Given the description of an element on the screen output the (x, y) to click on. 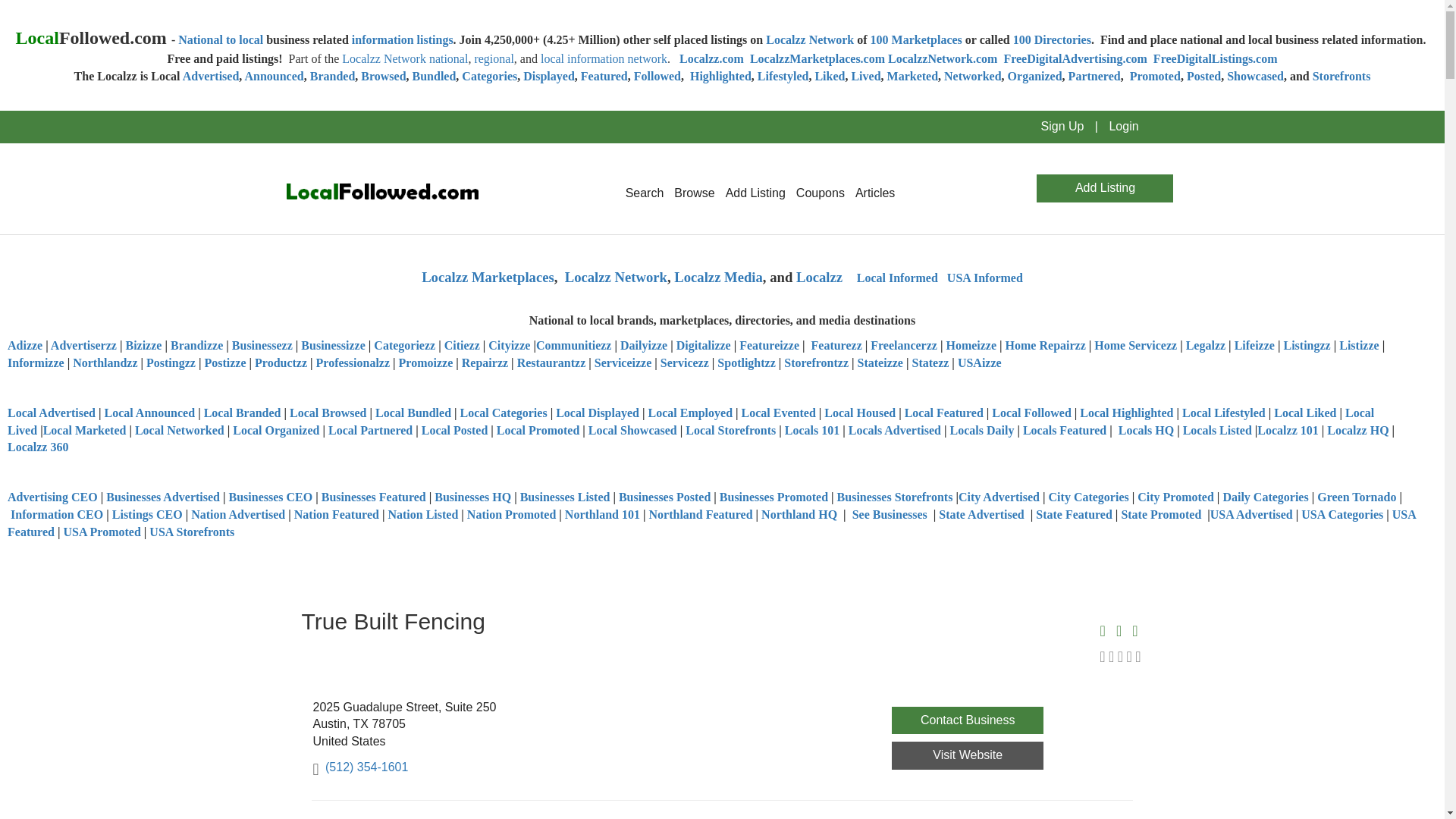
Categories (488, 75)
Browsed (383, 75)
FreeDigitalAdvertising.com (1075, 58)
Announced (273, 75)
Showcased (1255, 75)
Localzz.com (711, 58)
Branded (332, 75)
Liked (828, 75)
Marketed (912, 75)
National to local (220, 39)
